Given the description of an element on the screen output the (x, y) to click on. 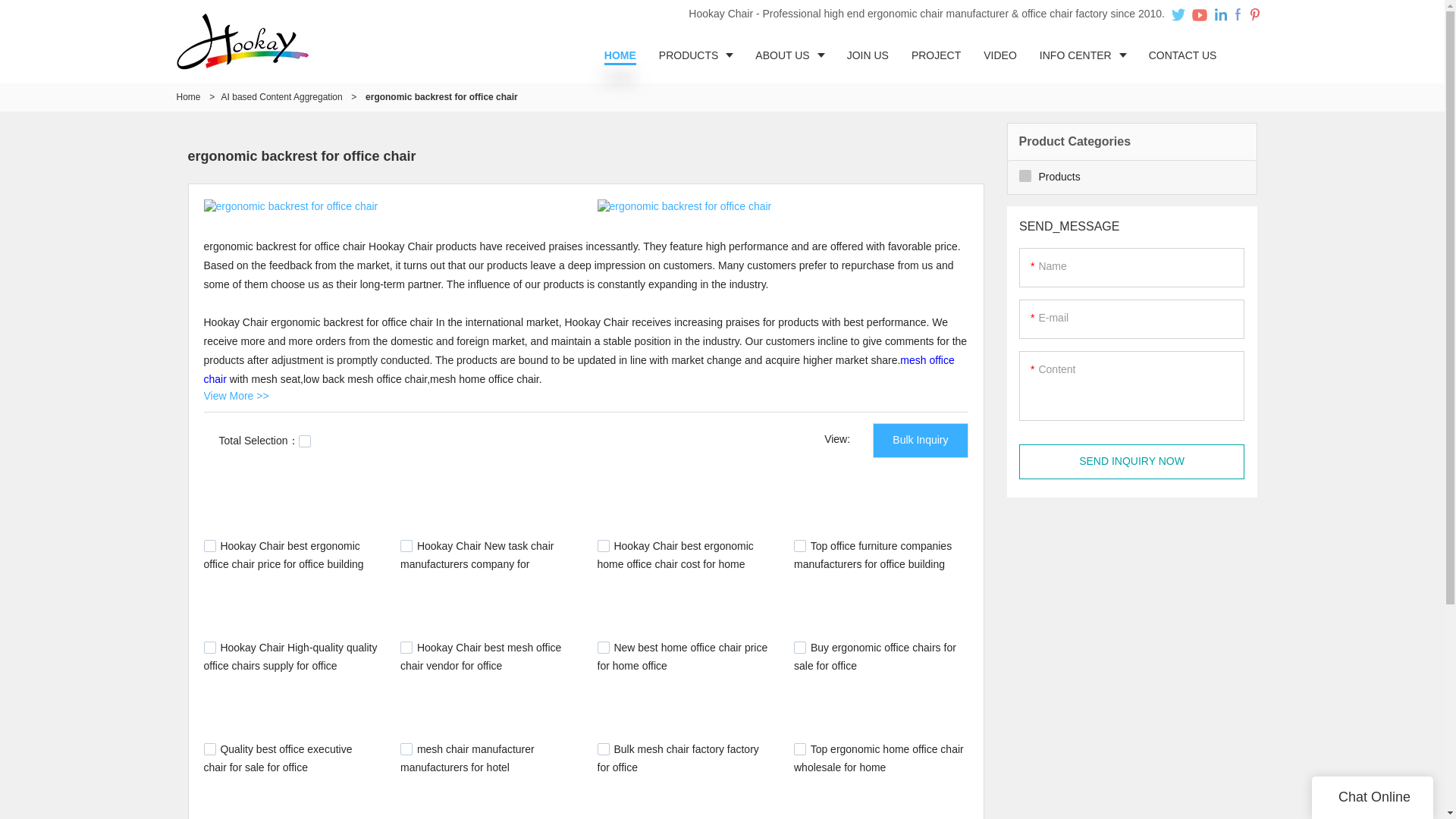
2272 (406, 647)
2207 (799, 647)
mesh office chair (578, 368)
Quality best office executive chair for sale for office (277, 757)
Home (188, 96)
JOIN US (867, 55)
2268 (603, 647)
AI based Content Aggregation (281, 96)
2197 (406, 748)
2617 (406, 545)
